Given the description of an element on the screen output the (x, y) to click on. 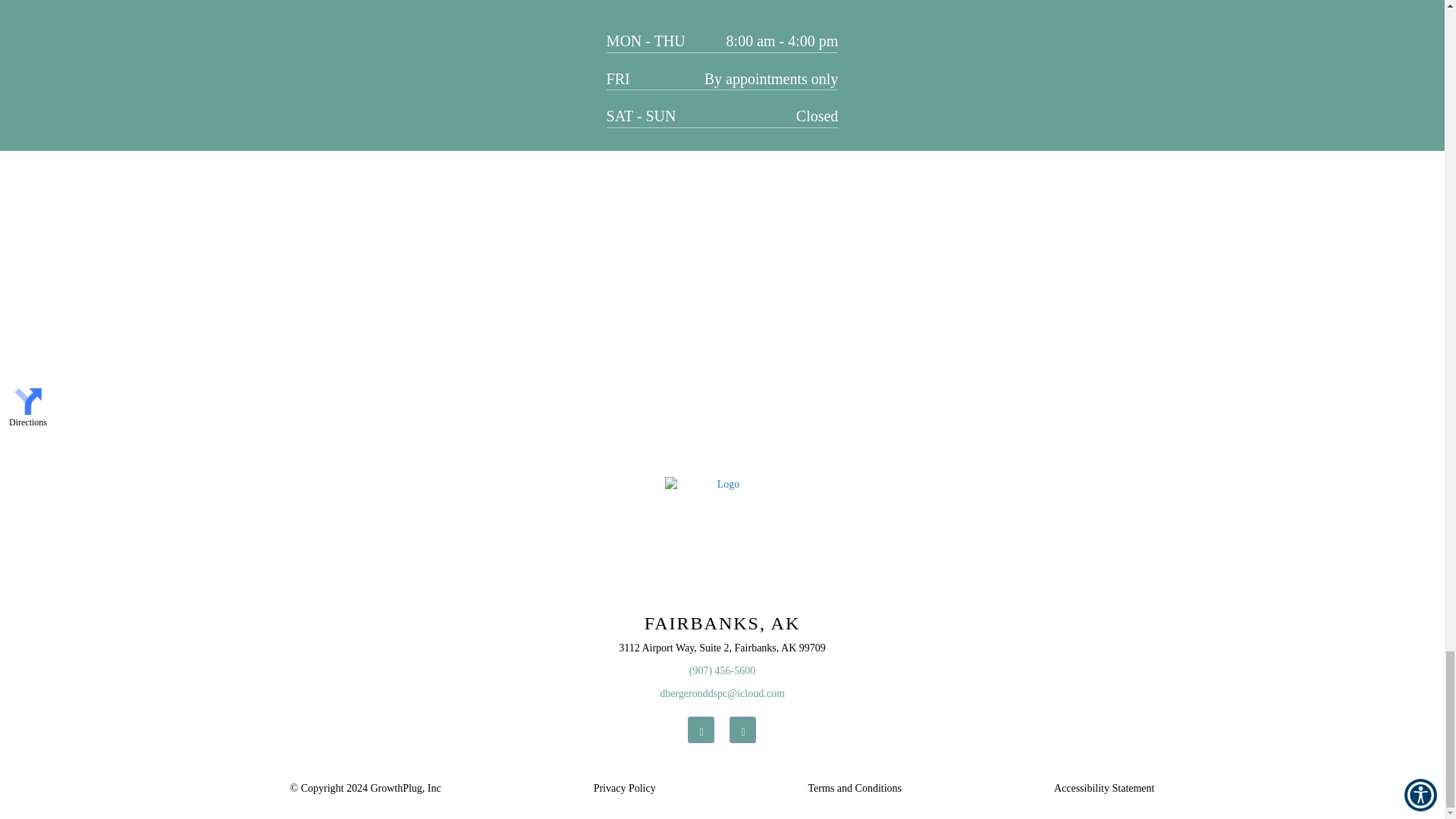
Logo (721, 533)
